Given the description of an element on the screen output the (x, y) to click on. 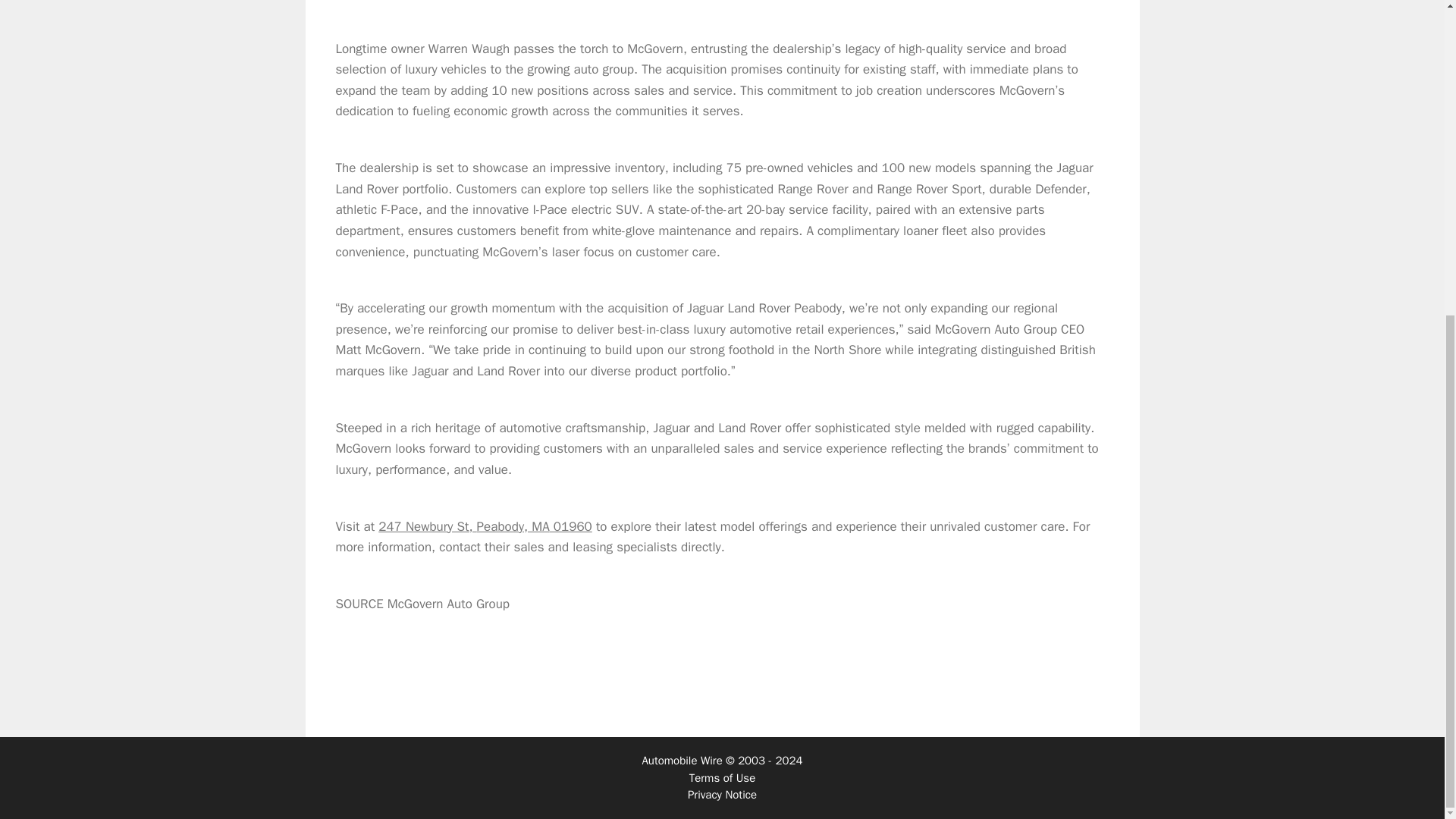
Privacy Notice (722, 794)
Terms of Use (721, 777)
